Given the description of an element on the screen output the (x, y) to click on. 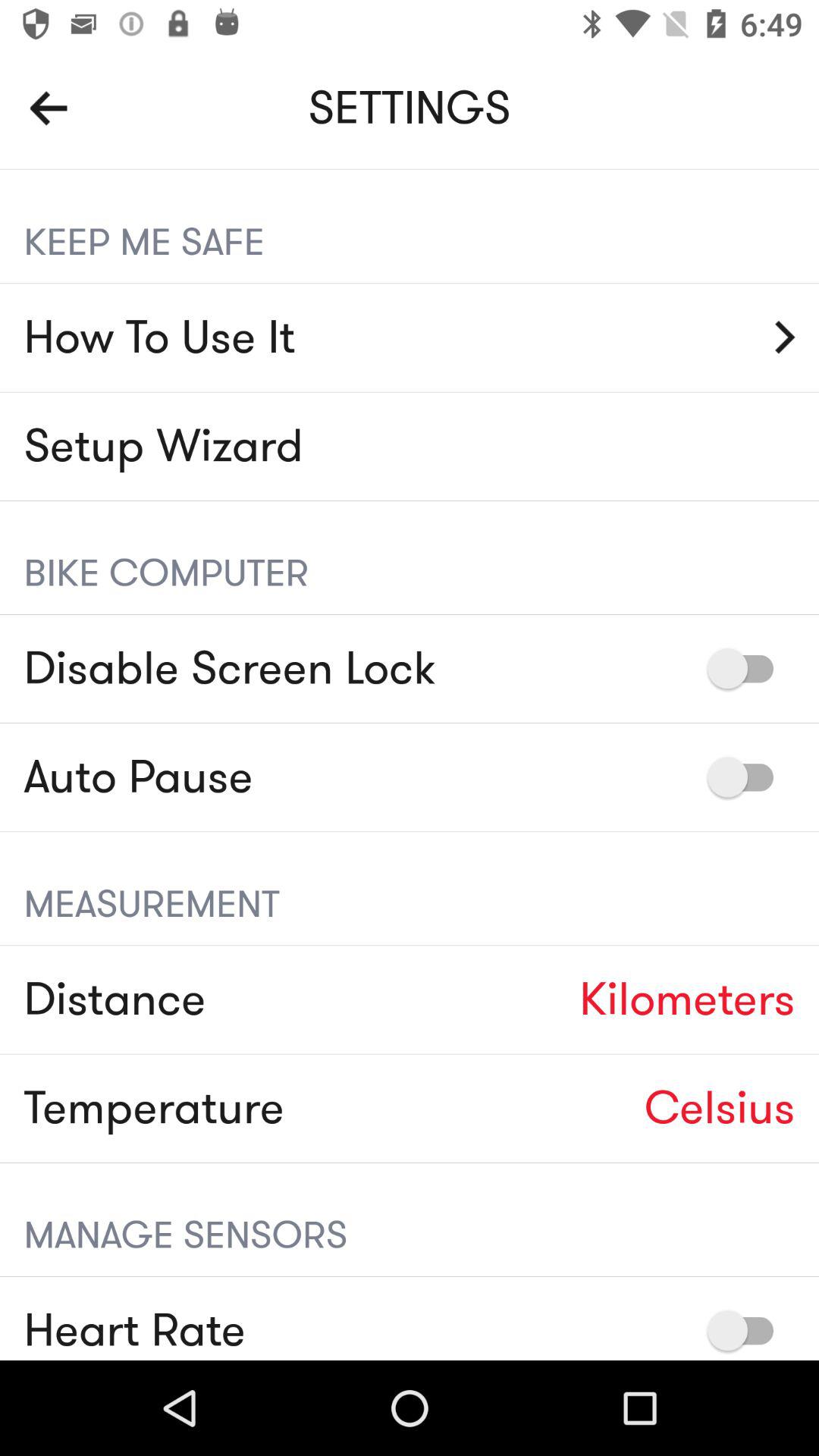
toggle to disable screen lock (747, 668)
